Given the description of an element on the screen output the (x, y) to click on. 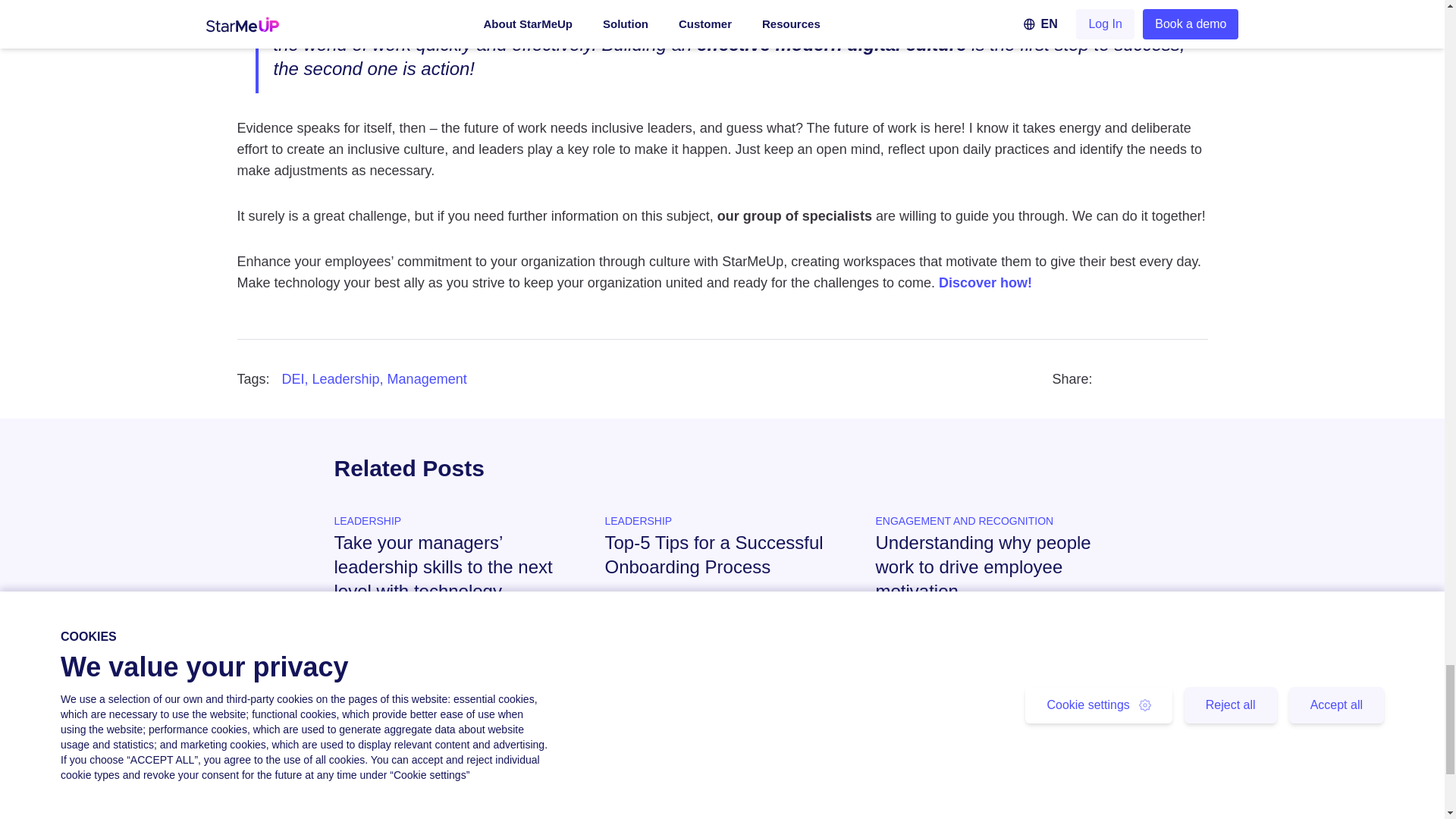
StarMeUp (917, 2)
Discover how! (985, 282)
our group of specialists (794, 215)
